Given the description of an element on the screen output the (x, y) to click on. 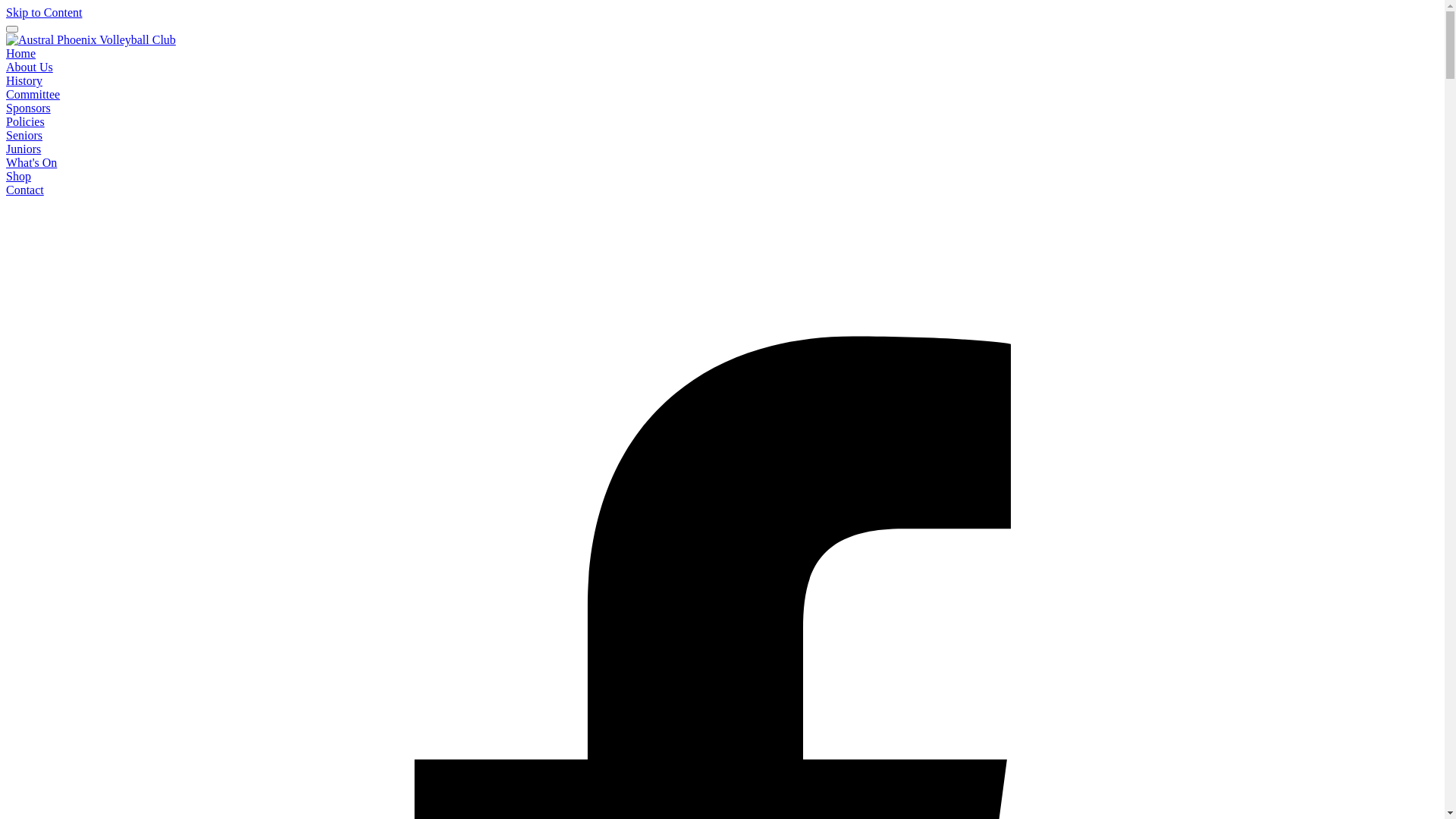
Skip to Content Element type: text (43, 12)
History Element type: text (24, 80)
Sponsors Element type: text (28, 107)
Home Element type: text (20, 53)
Policies Element type: text (25, 121)
What's On Element type: text (31, 162)
Contact Element type: text (24, 189)
Seniors Element type: text (24, 134)
About Us Element type: text (29, 66)
Juniors Element type: text (23, 148)
Committee Element type: text (32, 93)
Shop Element type: text (18, 175)
